Given the description of an element on the screen output the (x, y) to click on. 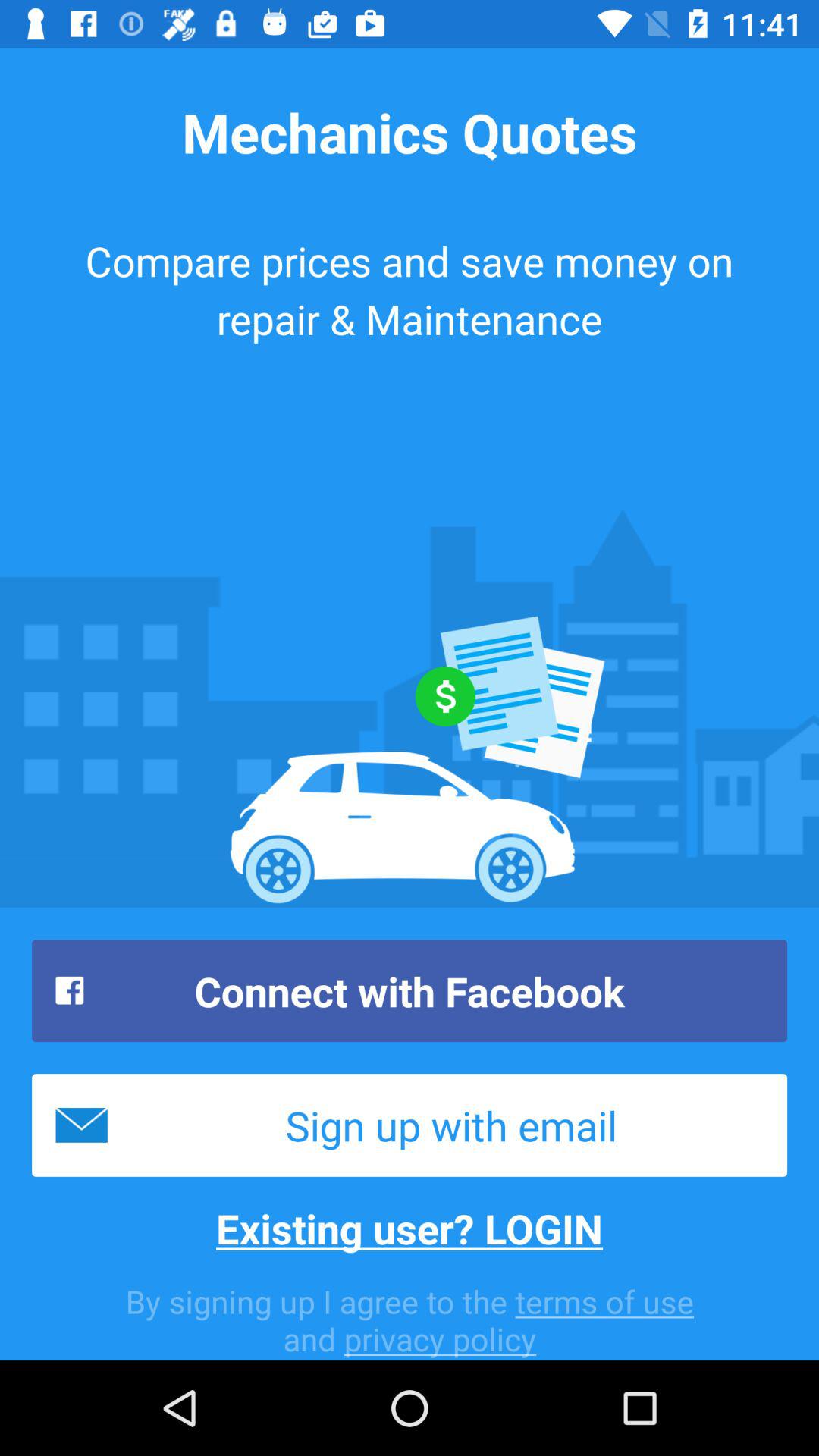
scroll to the by signing up (409, 1319)
